Given the description of an element on the screen output the (x, y) to click on. 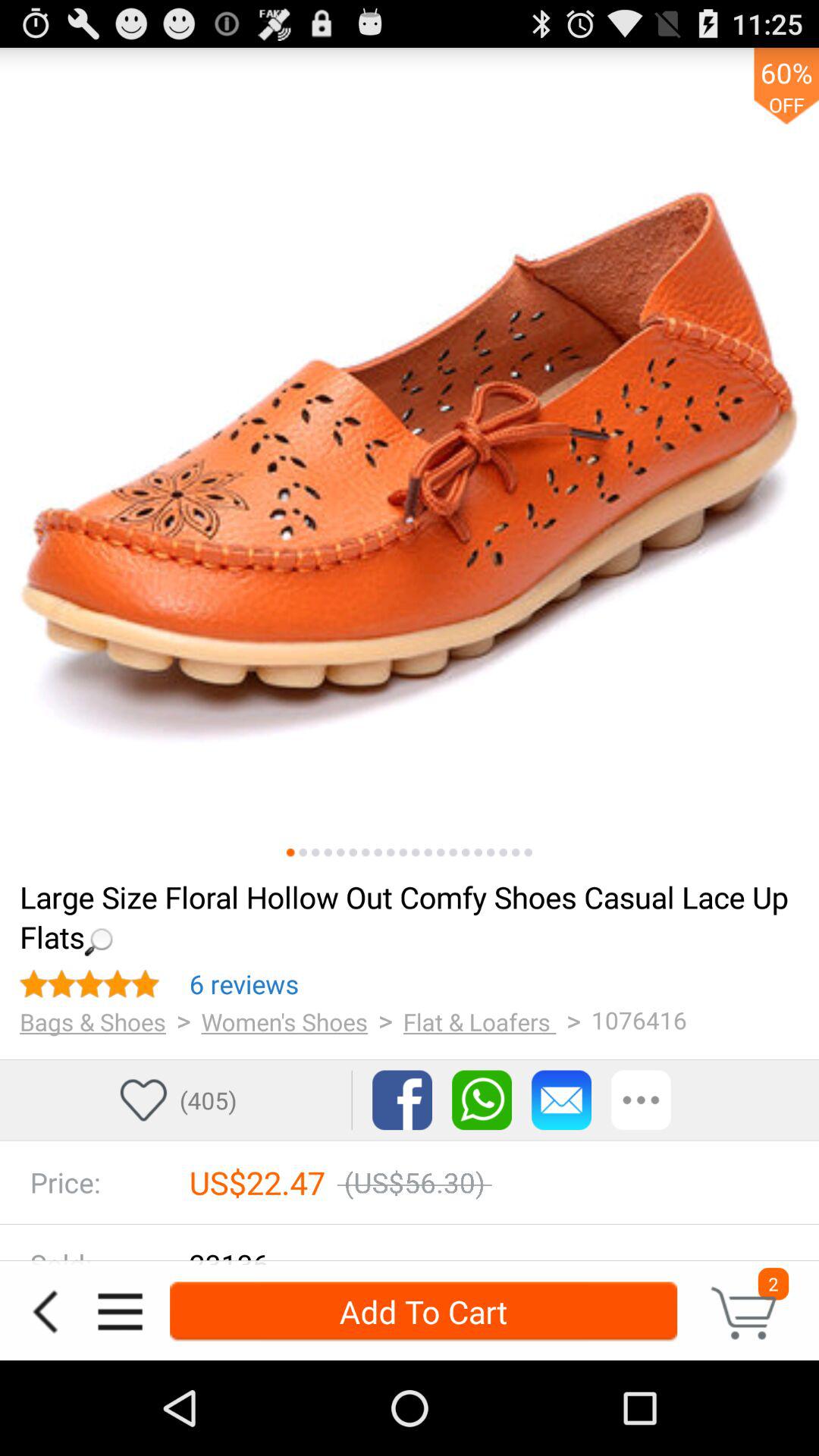
go to next (415, 852)
